Given the description of an element on the screen output the (x, y) to click on. 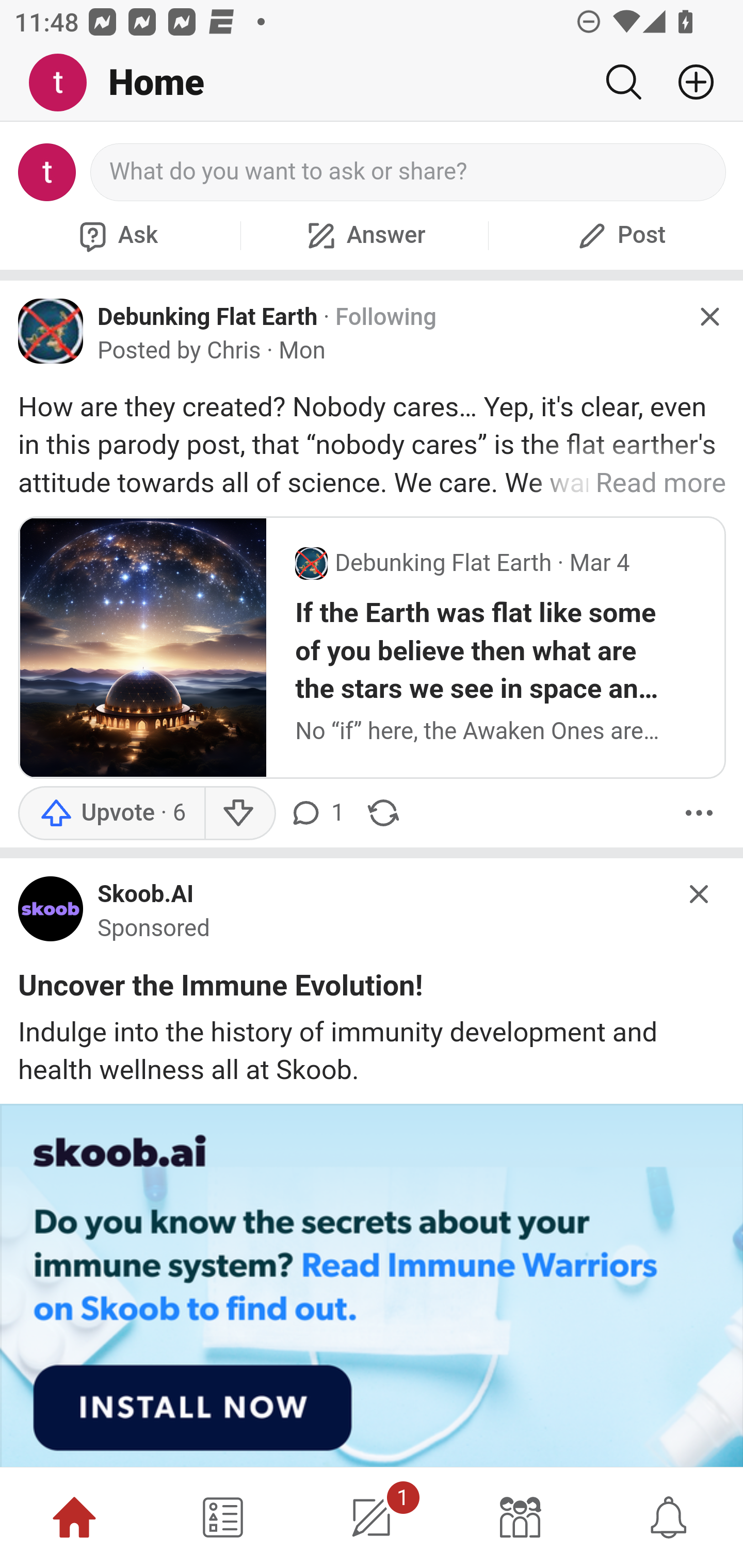
Me (64, 83)
Search (623, 82)
Add (688, 82)
What do you want to ask or share? (408, 172)
Ask (116, 234)
Answer (364, 234)
Post (618, 234)
Hide (709, 316)
Icon for Debunking Flat Earth (50, 330)
Debunking Flat Earth (208, 315)
Following (384, 316)
Upvote (111, 813)
Downvote (238, 813)
1 comment (319, 813)
Share (383, 813)
More (699, 813)
Hide (699, 893)
main-qimg-1ebea3e07fd93bdc180c2ff967774d01 (50, 912)
Skoob.AI (145, 895)
Sponsored (154, 929)
Uncover the Immune Evolution! (220, 989)
1 (371, 1517)
